Given the description of an element on the screen output the (x, y) to click on. 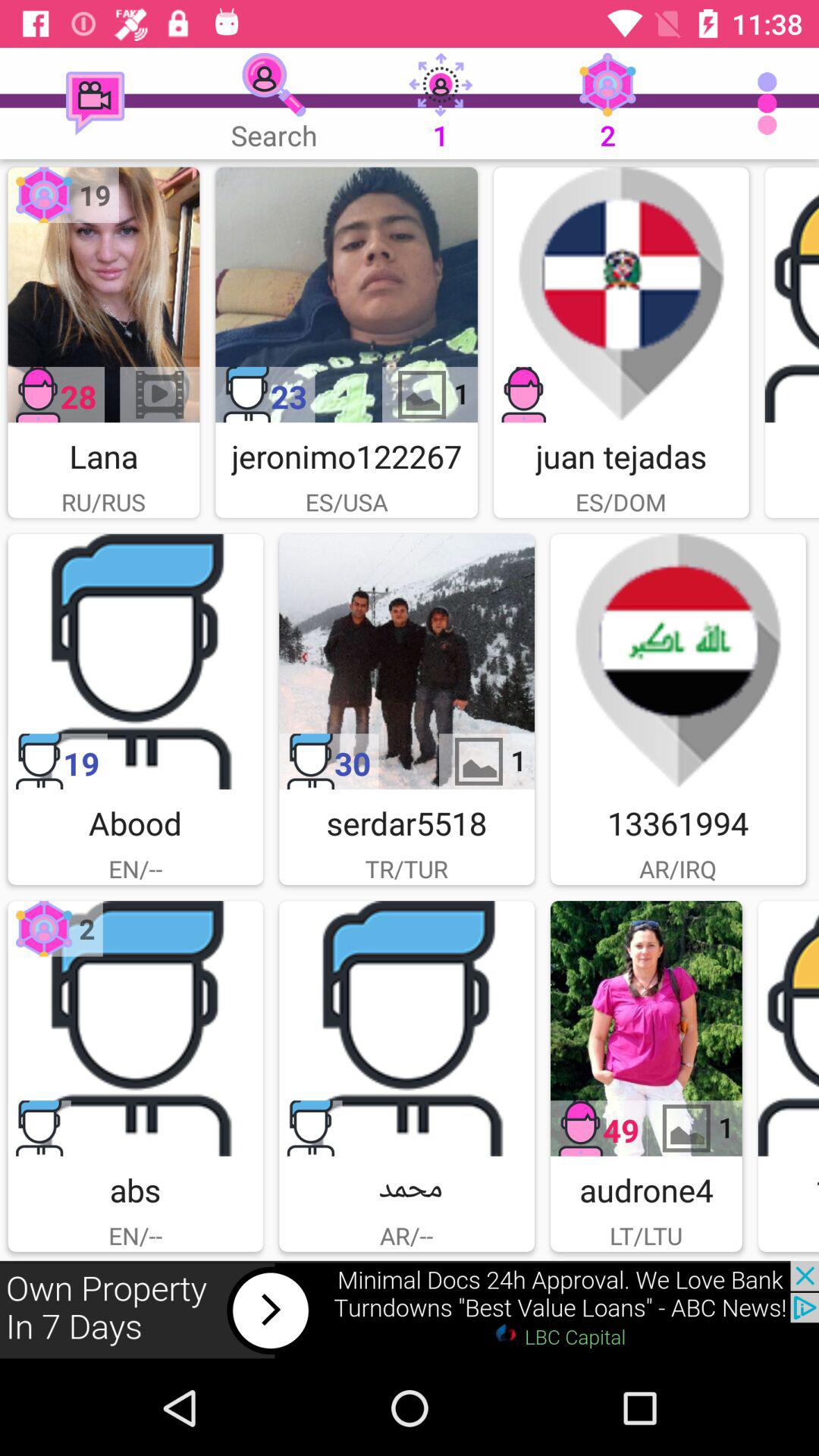
select this user (135, 661)
